Given the description of an element on the screen output the (x, y) to click on. 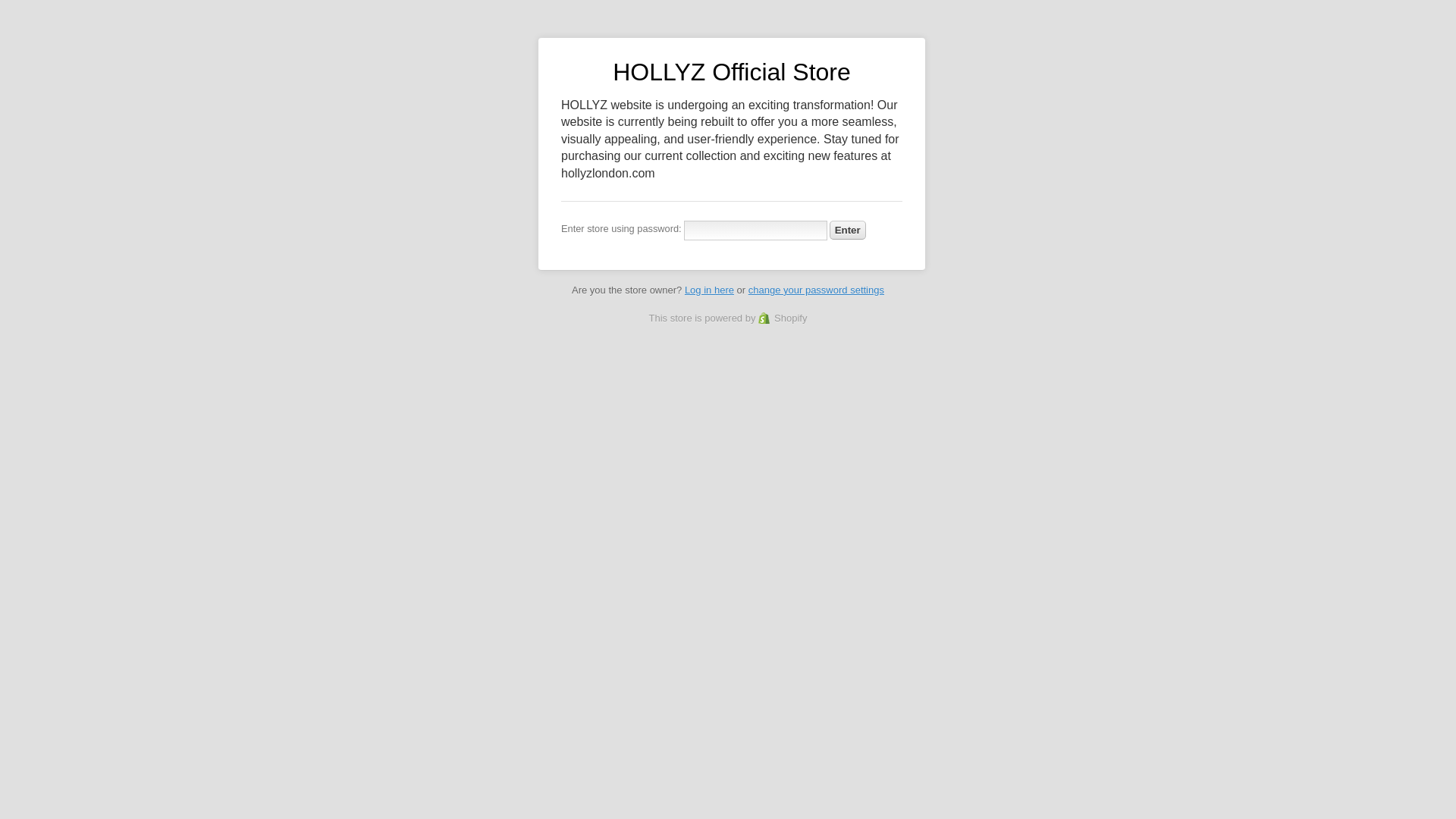
Enter (847, 229)
Enter (847, 229)
